Given the description of an element on the screen output the (x, y) to click on. 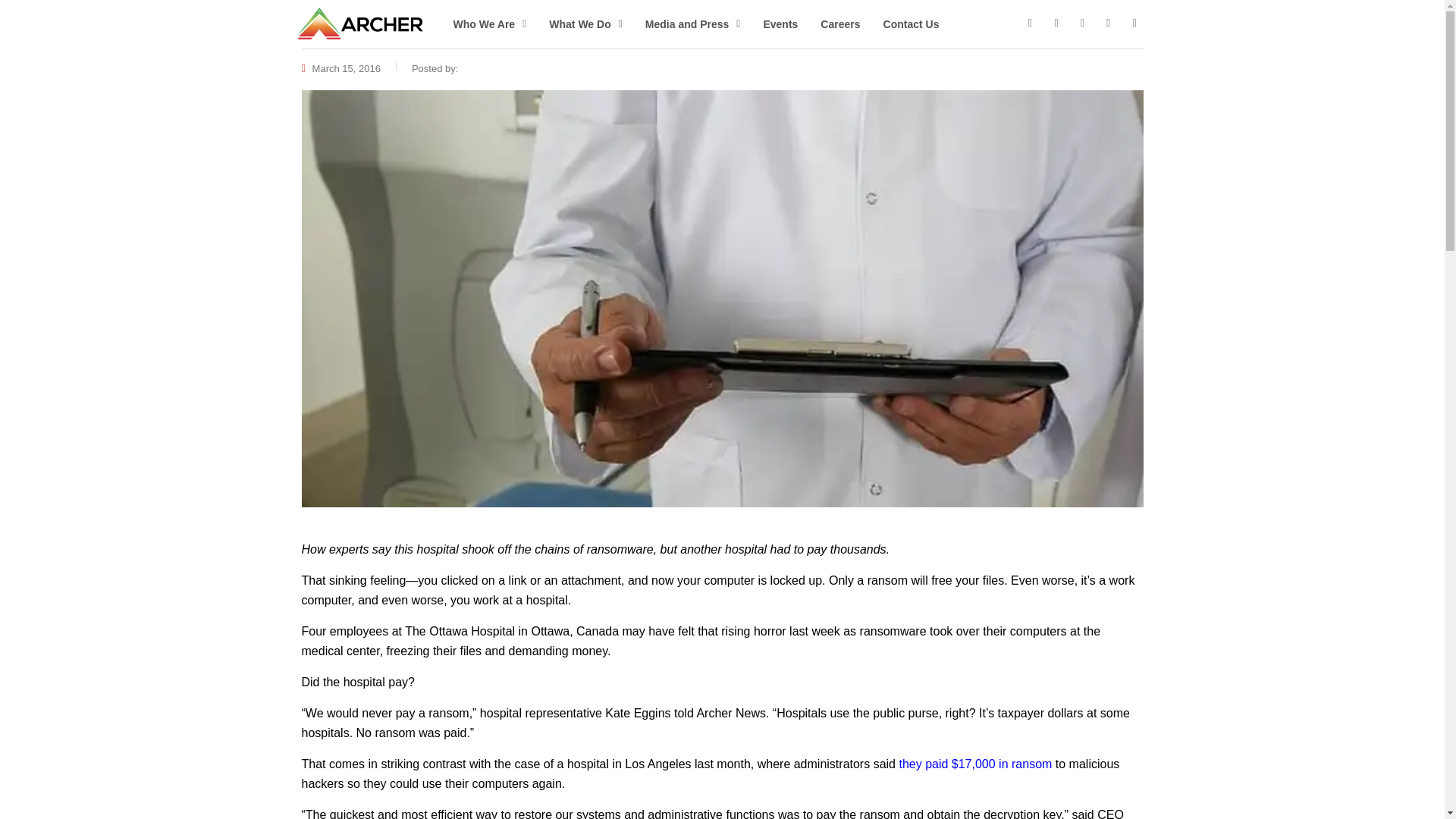
Media and Press (692, 23)
Careers (839, 23)
Contact Us (911, 23)
What We Do (585, 23)
Who We Are (489, 23)
Events (780, 23)
